Given the description of an element on the screen output the (x, y) to click on. 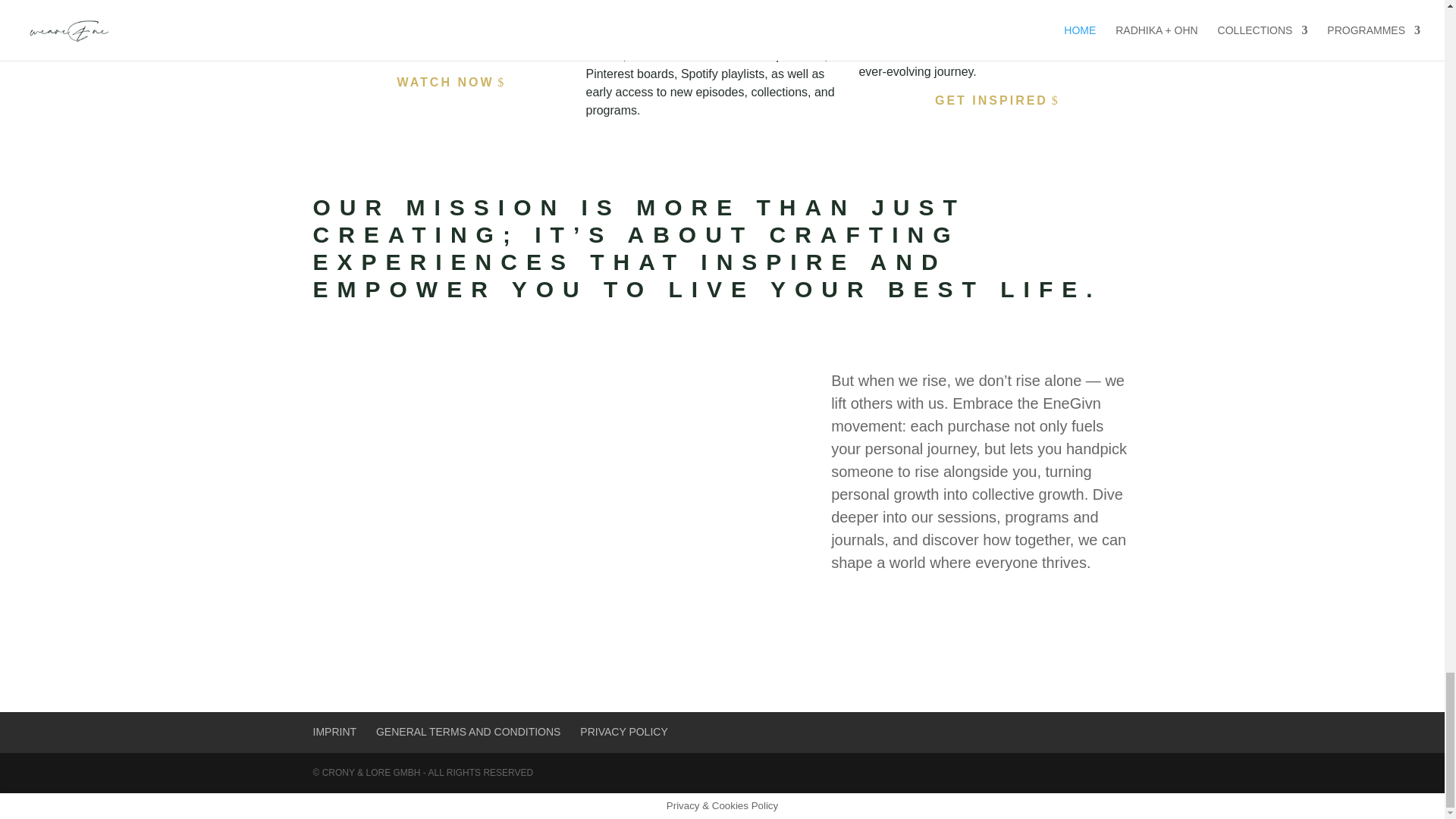
IMPRINT (334, 731)
WATCH NOW (448, 82)
PRIVACY POLICY (622, 731)
GENERAL TERMS AND CONDITIONS (467, 731)
JOIN NOW (721, 5)
GET INSPIRED (995, 100)
